Given the description of an element on the screen output the (x, y) to click on. 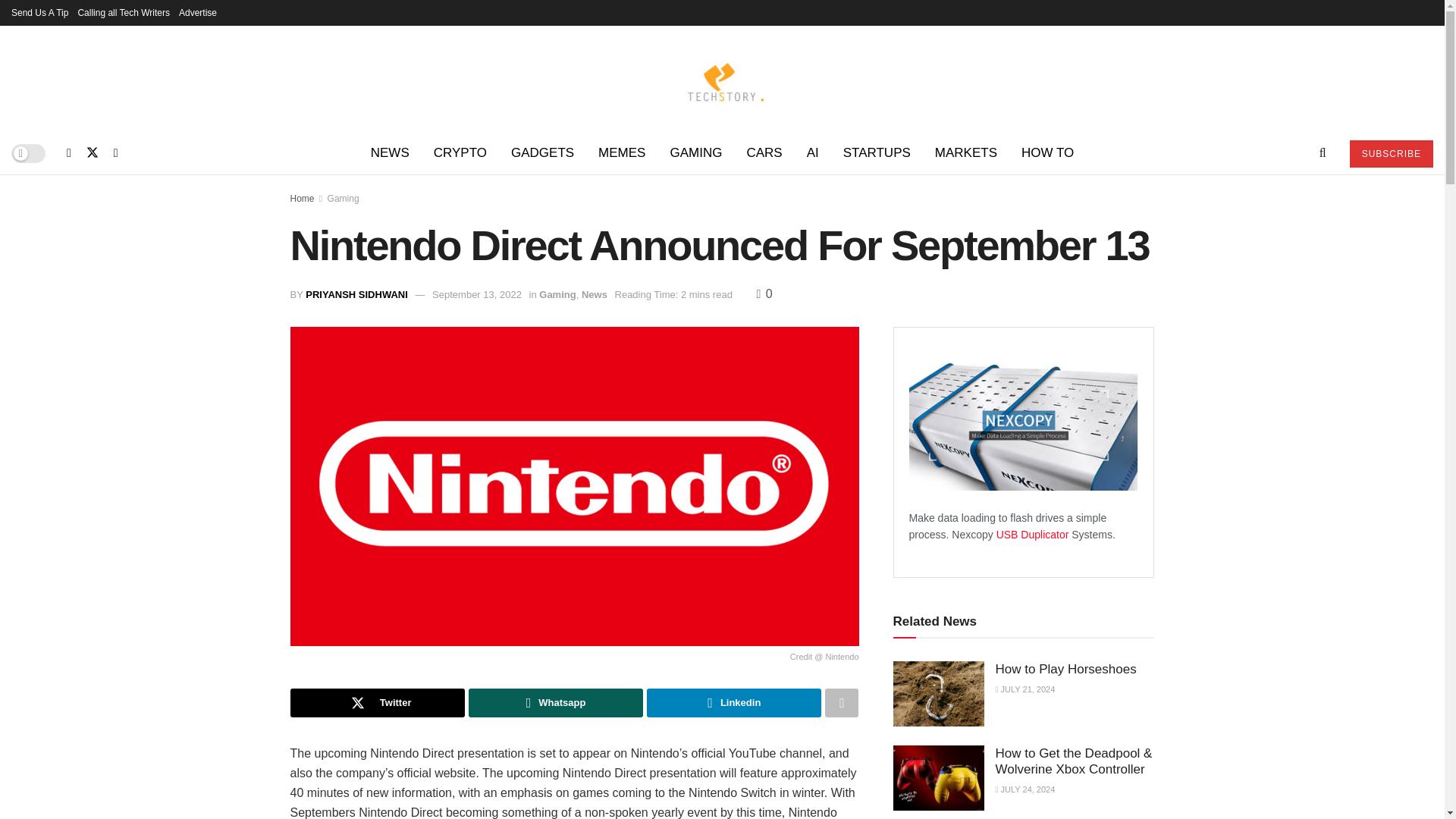
USB duplicator (1033, 534)
STARTUPS (877, 152)
NEWS (390, 152)
Advertise (197, 12)
Gaming (343, 198)
GAMING (695, 152)
HOW TO (1047, 152)
CARS (763, 152)
CRYPTO (460, 152)
PRIYANSH SIDHWANI (356, 294)
SUBSCRIBE (1390, 153)
Calling all Tech Writers (123, 12)
MARKETS (966, 152)
MEMES (622, 152)
Send Us A Tip (39, 12)
